Given the description of an element on the screen output the (x, y) to click on. 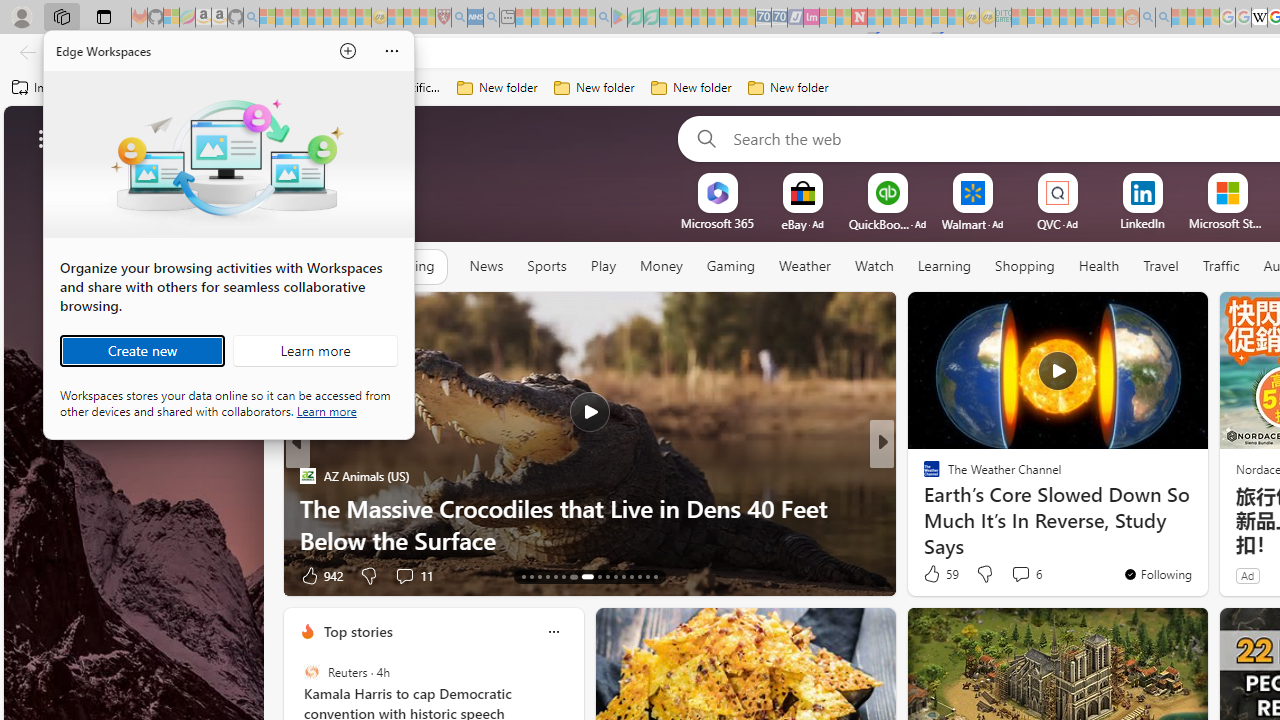
AutomationID: tab-27 (646, 576)
AutomationID: tab-21 (593, 576)
View comments 4 Comment (1019, 574)
AutomationID: tab-14 (531, 576)
AutomationID: tab-16 (546, 576)
152 Like (936, 574)
View comments 5 Comment (1019, 574)
AutomationID: tab-15 (539, 576)
